Given the description of an element on the screen output the (x, y) to click on. 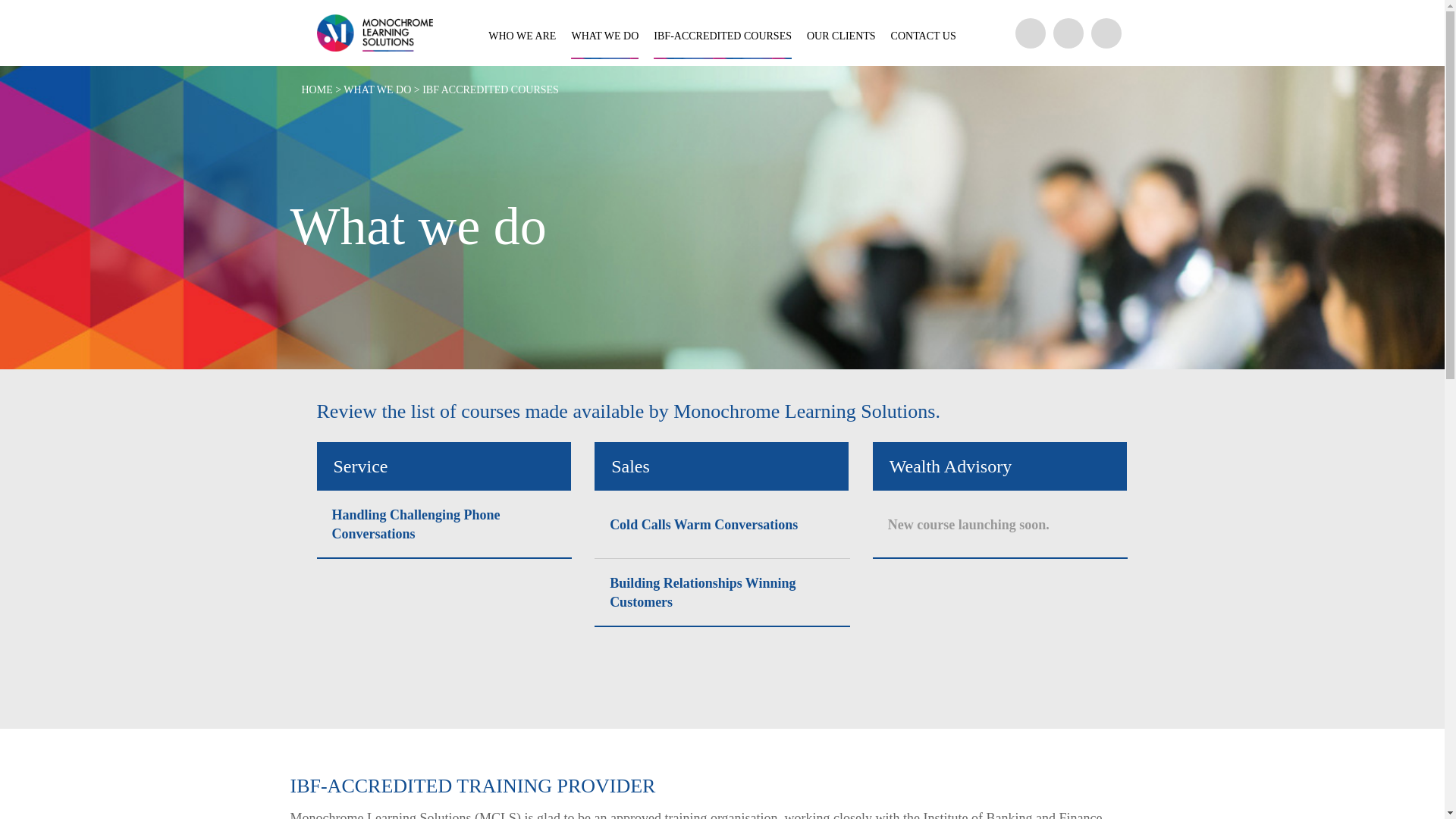
WHO WE ARE (521, 36)
Cold Calls Warm Conversations (703, 524)
Wealth Advisory (999, 466)
OUR CLIENTS (841, 36)
Building Relationships Winning Customers (722, 592)
CONTACT US (923, 36)
Sales (721, 466)
IBF-ACCREDITED COURSES (722, 36)
Handling Challenging Phone Conversations (444, 524)
WHAT WE DO (604, 36)
